Given the description of an element on the screen output the (x, y) to click on. 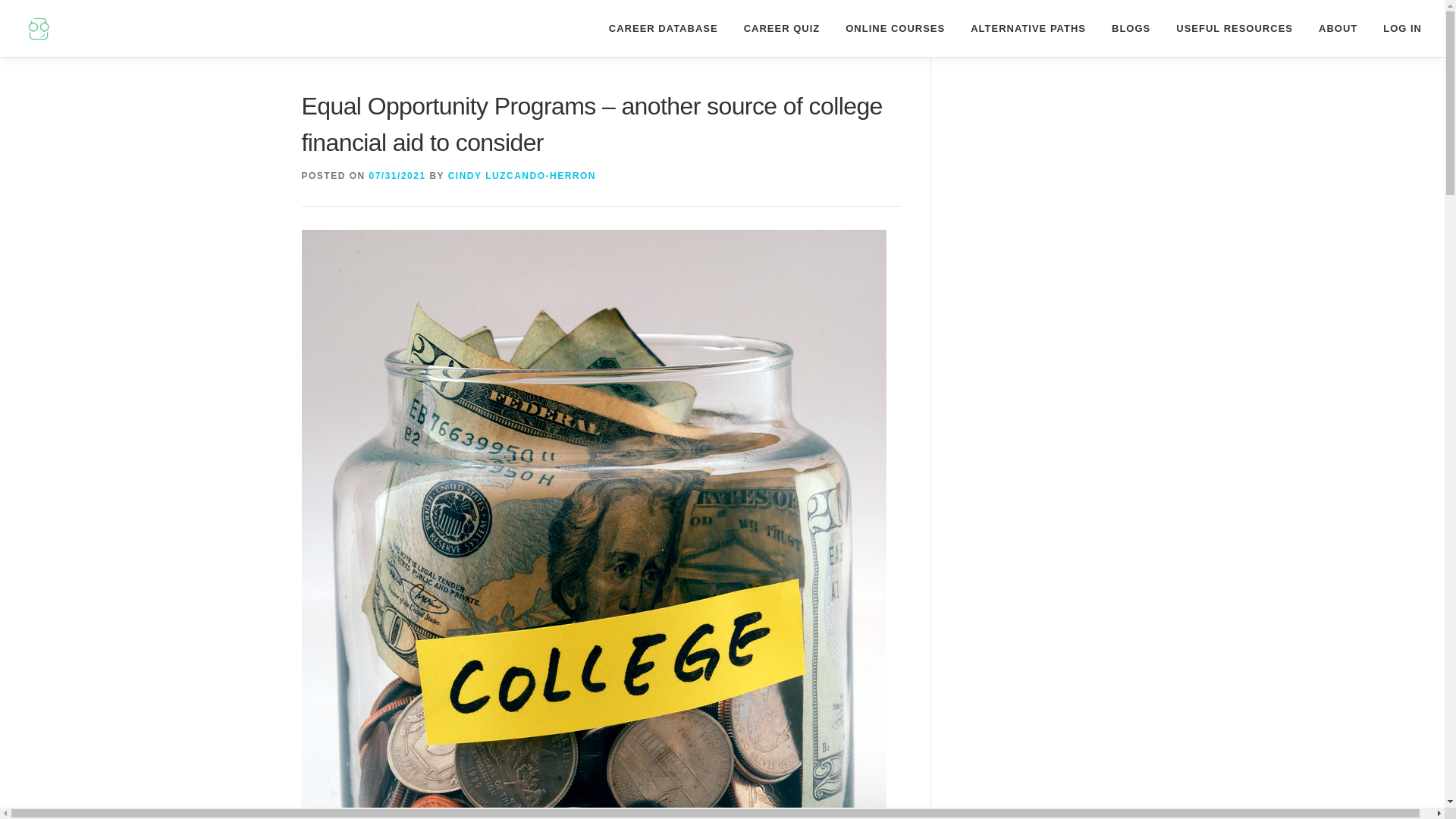
ALTERNATIVE PATHS (1028, 28)
CAREER DATABASE (662, 28)
BLOGS (1131, 28)
CINDY LUZCANDO-HERRON (521, 175)
USEFUL RESOURCES (1234, 28)
CAREER QUIZ (781, 28)
ABOUT (1338, 28)
LOG IN (1396, 28)
ONLINE COURSES (895, 28)
